Given the description of an element on the screen output the (x, y) to click on. 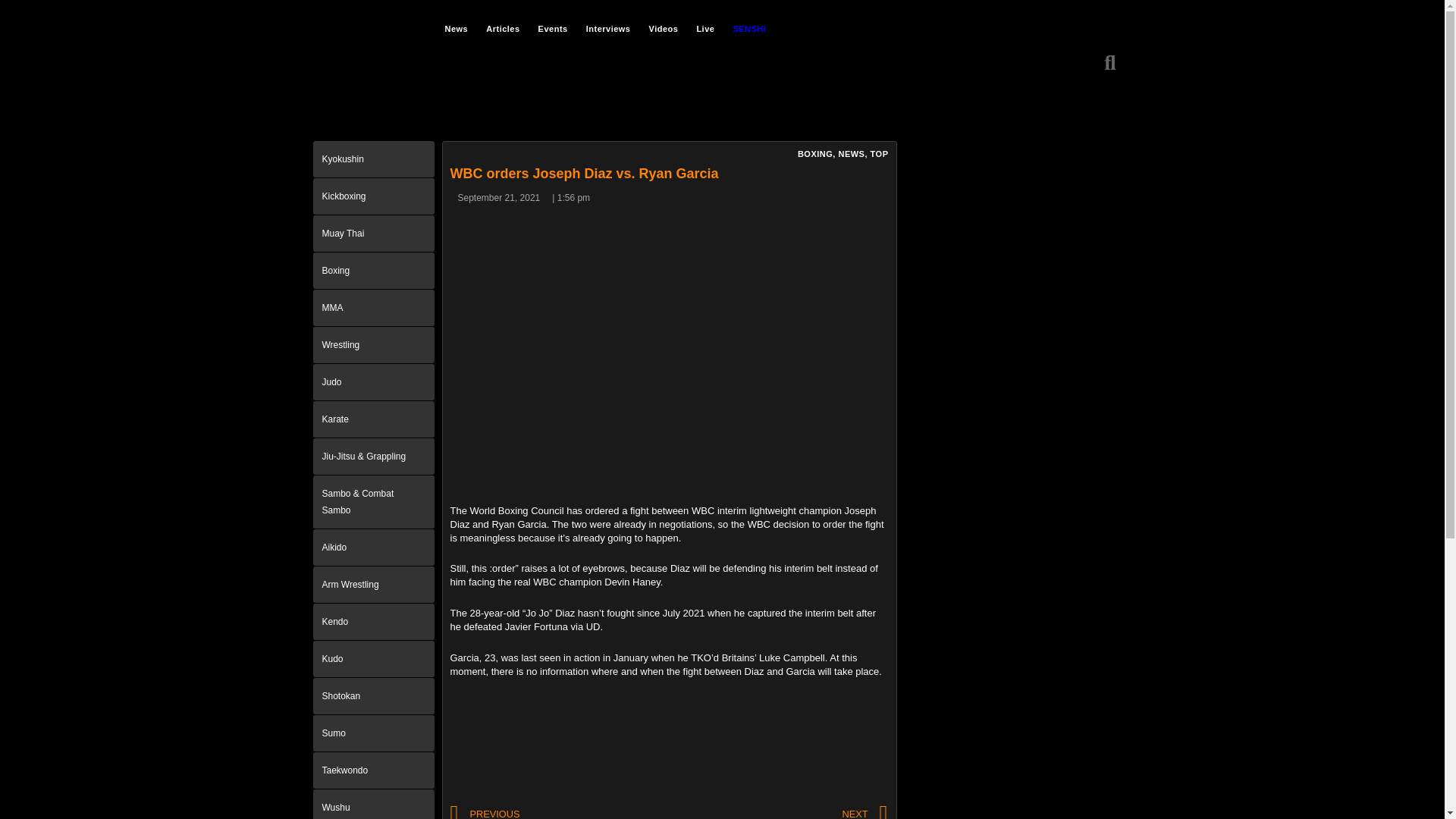
SENSHI (748, 28)
Articles (502, 28)
News (456, 28)
Videos (663, 28)
Events (552, 28)
Interviews (608, 28)
